Given the description of an element on the screen output the (x, y) to click on. 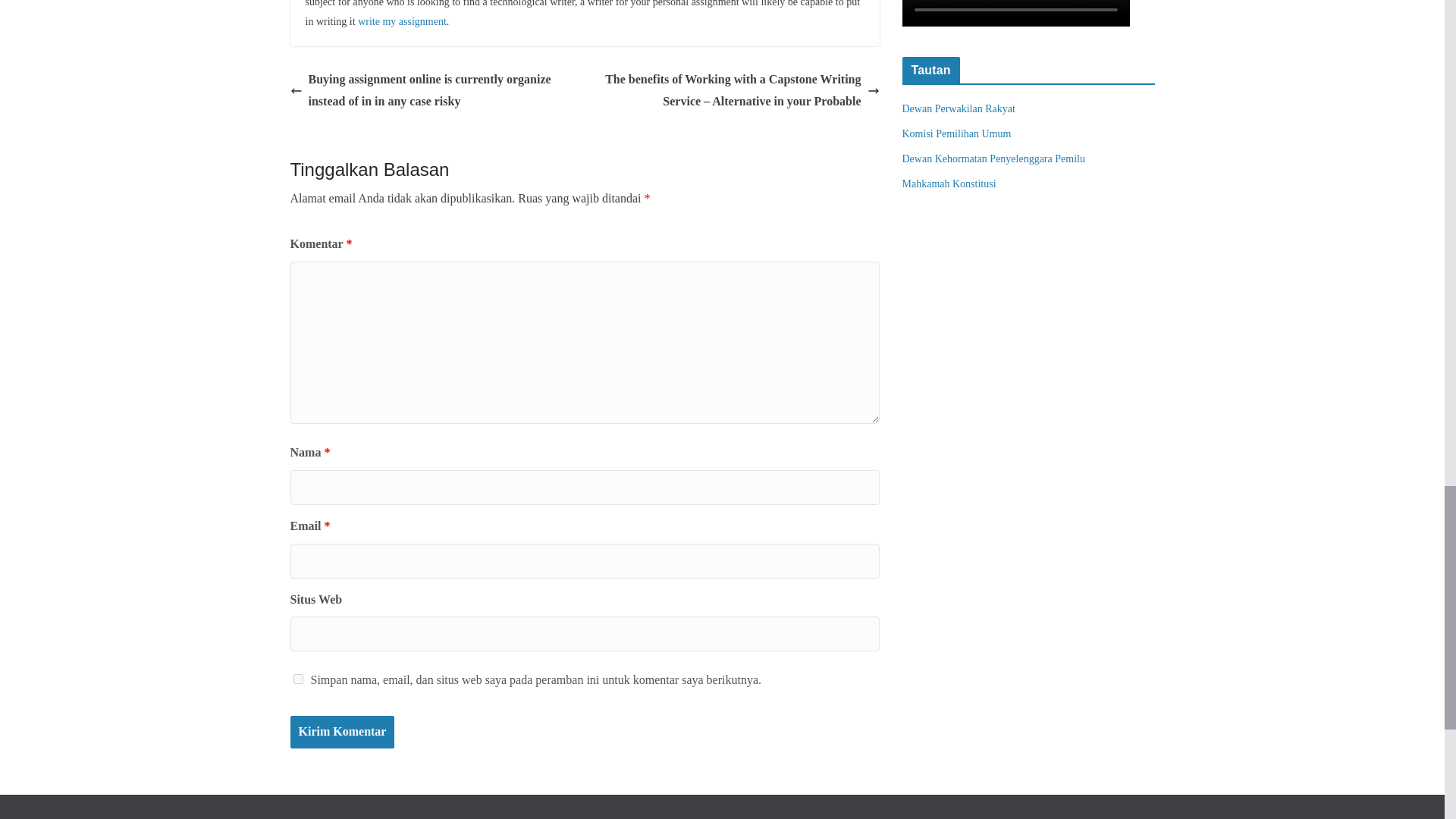
yes (297, 678)
Kirim Komentar (341, 731)
